Given the description of an element on the screen output the (x, y) to click on. 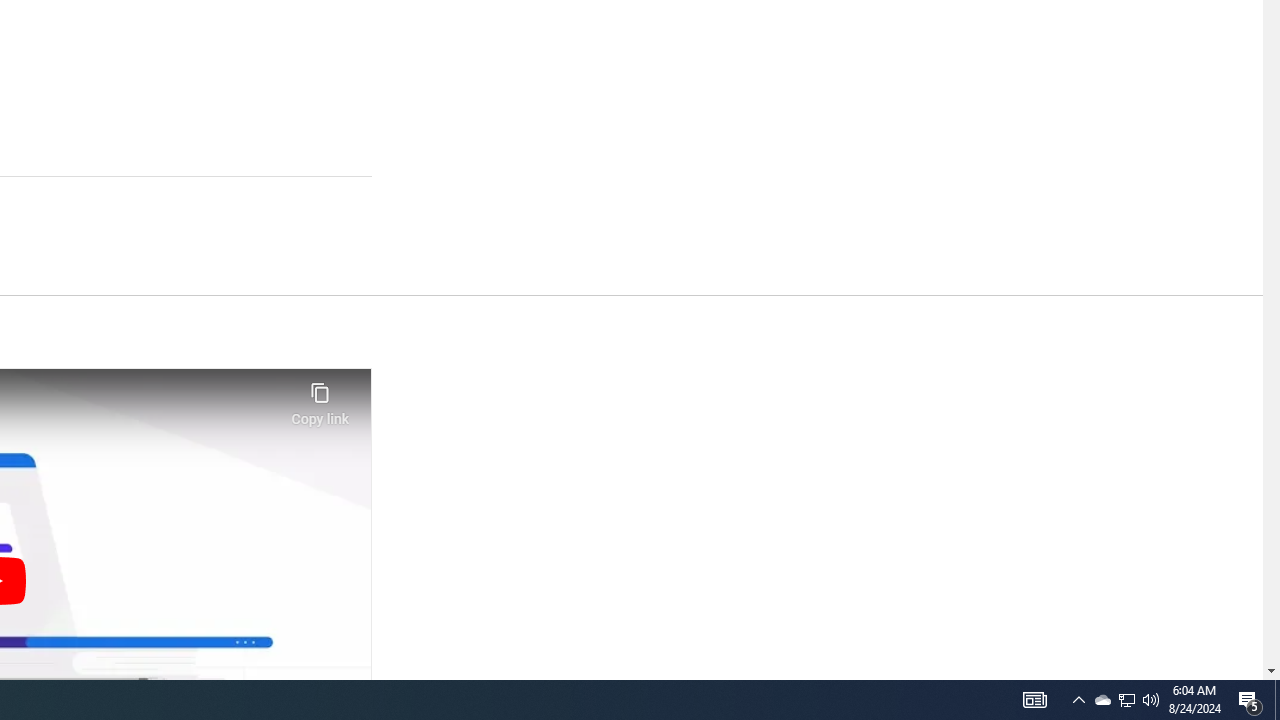
Copy link (319, 398)
